Given the description of an element on the screen output the (x, y) to click on. 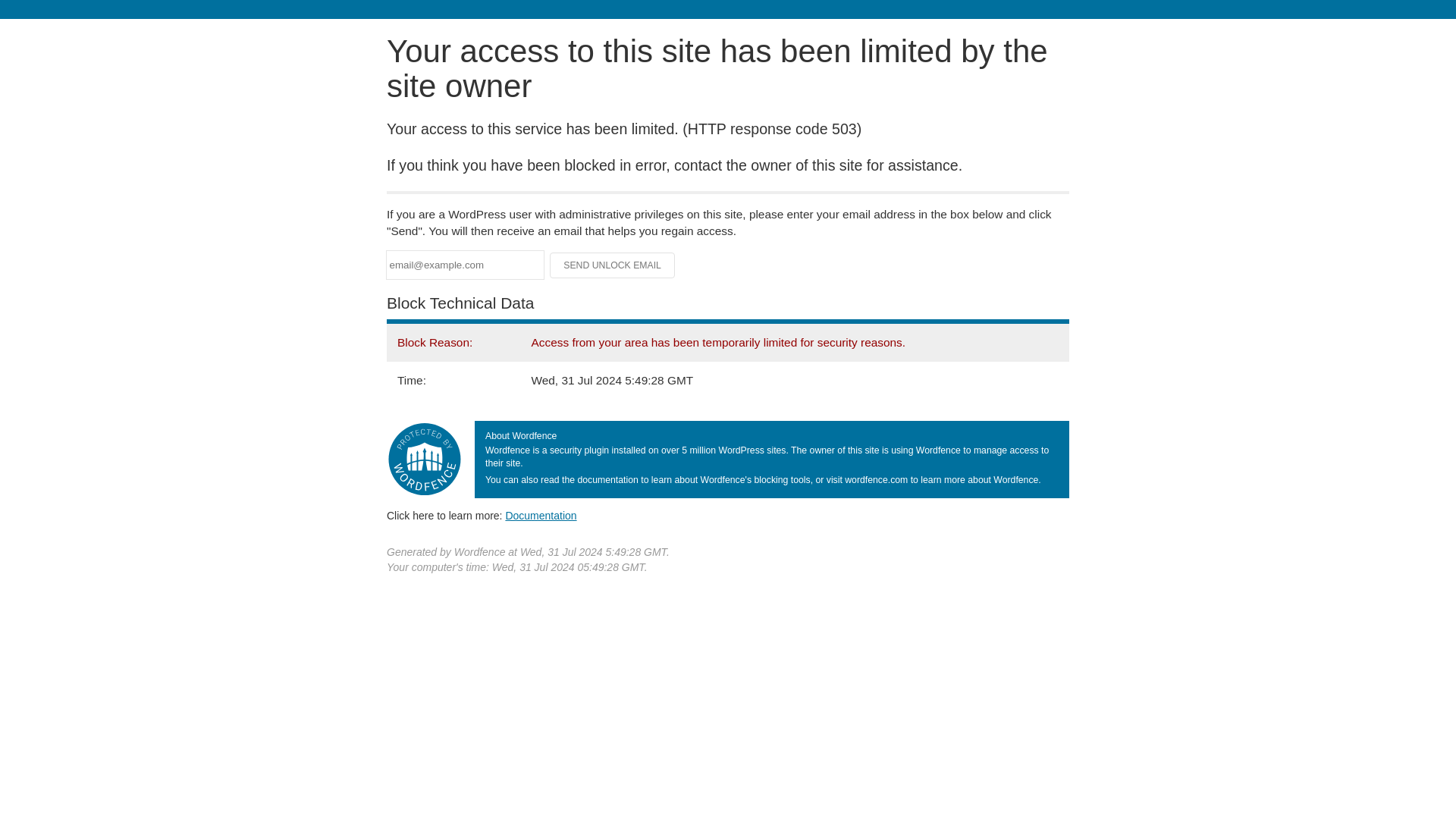
Send Unlock Email (612, 265)
Documentation (540, 515)
Send Unlock Email (612, 265)
